Given the description of an element on the screen output the (x, y) to click on. 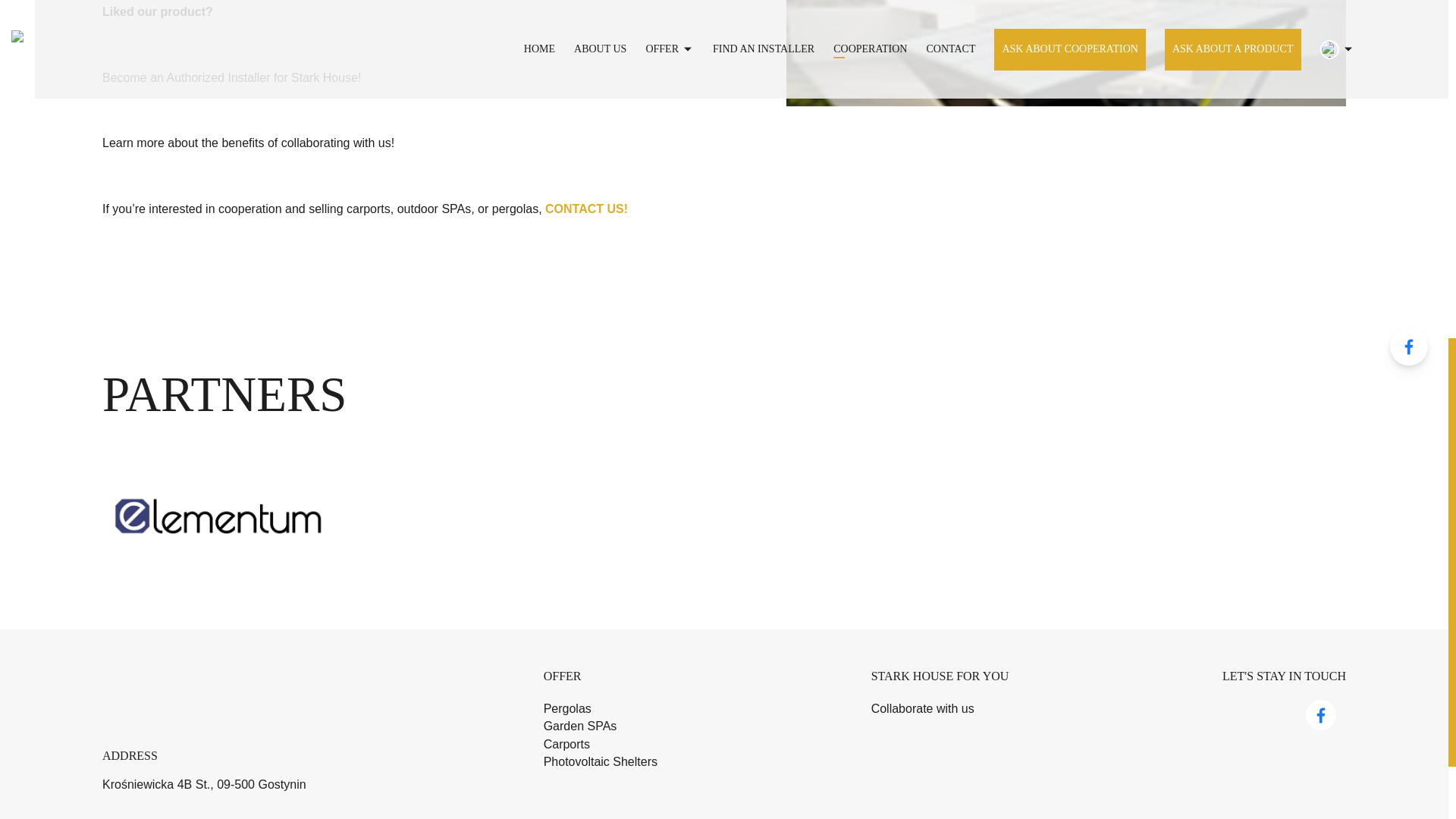
Photovoltaic Shelters (600, 761)
CONTACT US! (585, 208)
Pergolas (567, 708)
Collaborate with us (922, 708)
Garden SPAs (580, 725)
Carports (566, 743)
